Given the description of an element on the screen output the (x, y) to click on. 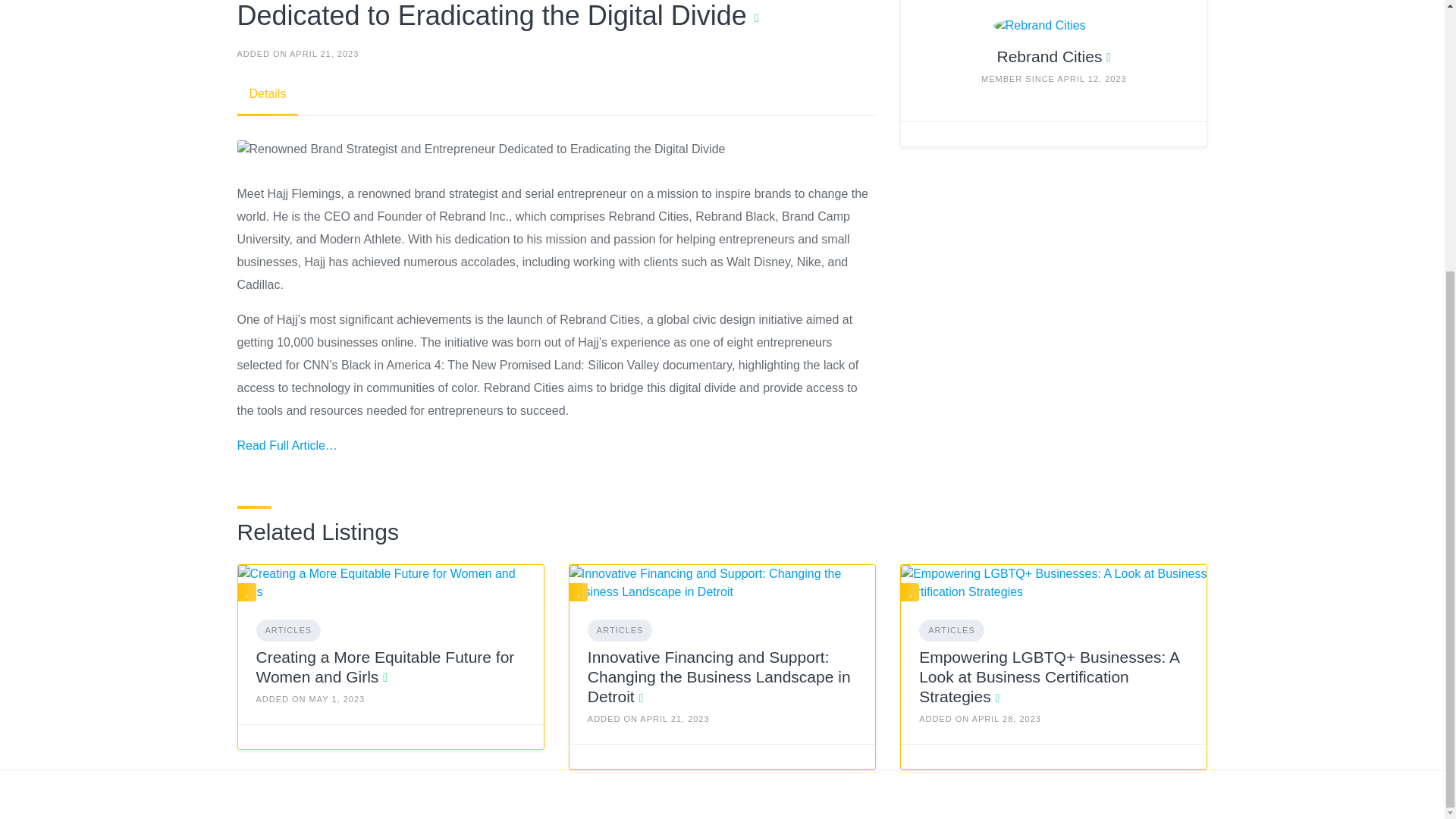
Featured (578, 592)
ARTICLES (951, 630)
ARTICLES (620, 630)
Creating a More Equitable Future for Women and Girls (385, 666)
Featured (247, 592)
Rebrand Cities (1049, 56)
Details (266, 94)
Featured (909, 592)
ARTICLES (288, 630)
